Given the description of an element on the screen output the (x, y) to click on. 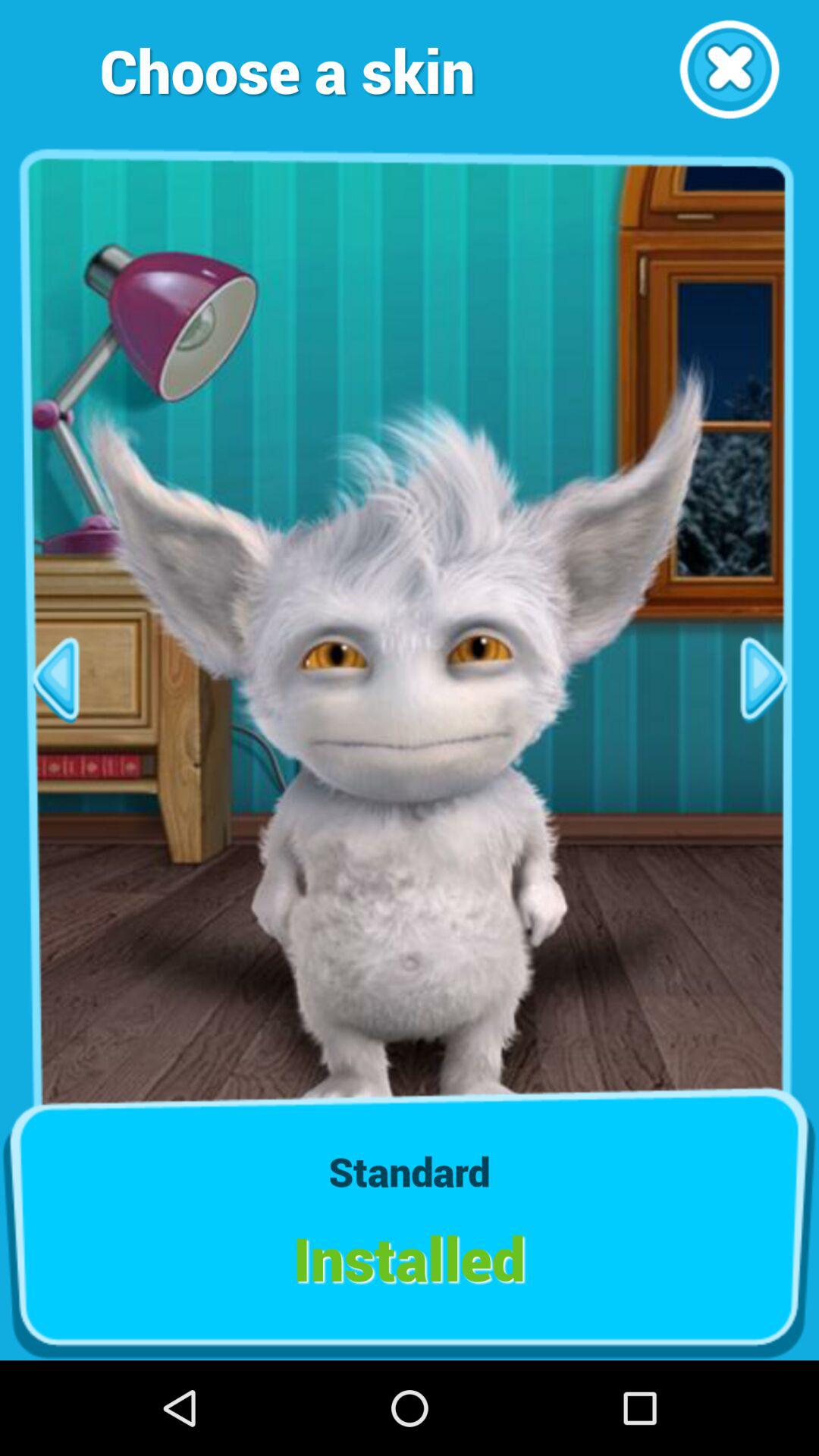
go to next page (763, 679)
